Given the description of an element on the screen output the (x, y) to click on. 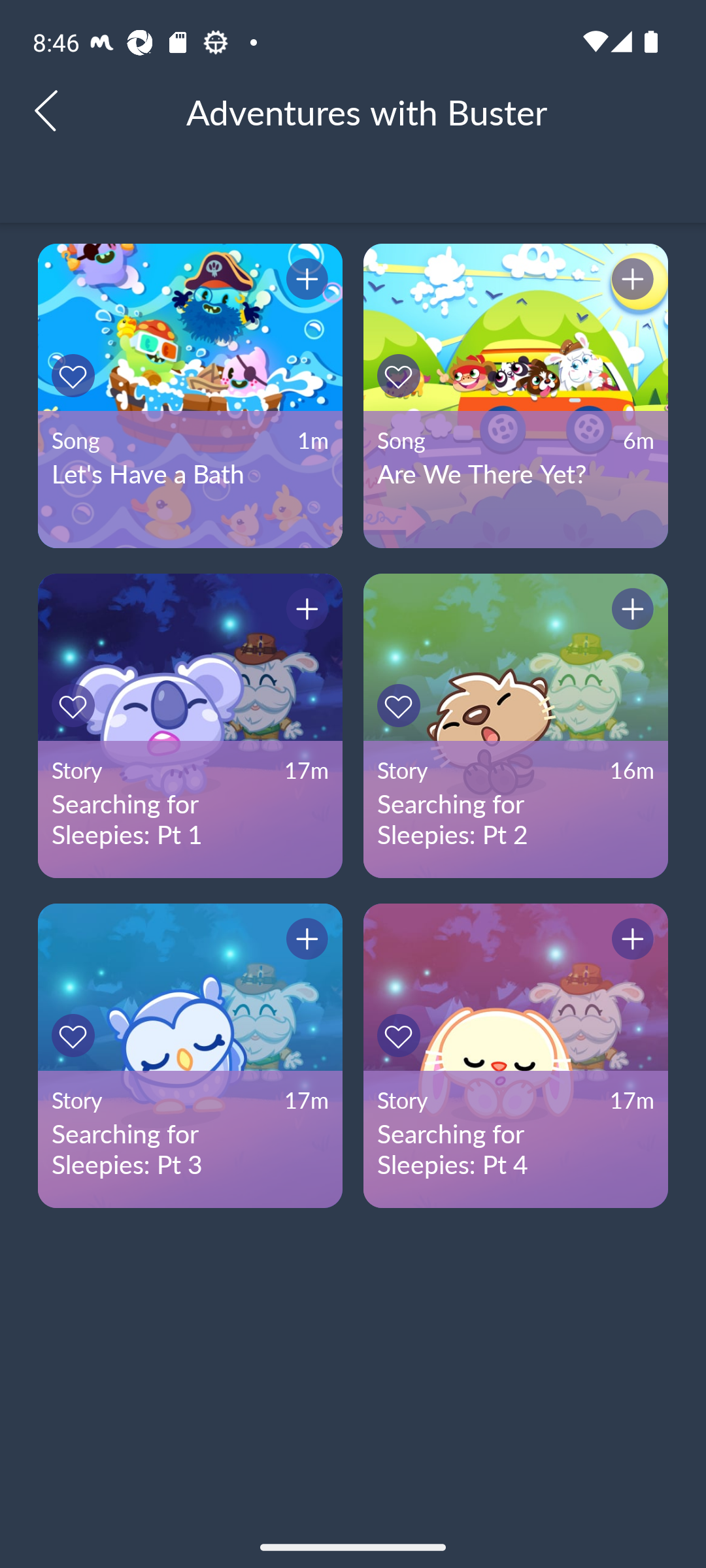
Button (304, 281)
Button (629, 281)
Button (76, 375)
Button (401, 375)
Button (304, 611)
Button (629, 611)
Button (76, 705)
Button (401, 705)
Button (304, 941)
Button (629, 941)
Button (76, 1035)
Button (401, 1035)
